Given the description of an element on the screen output the (x, y) to click on. 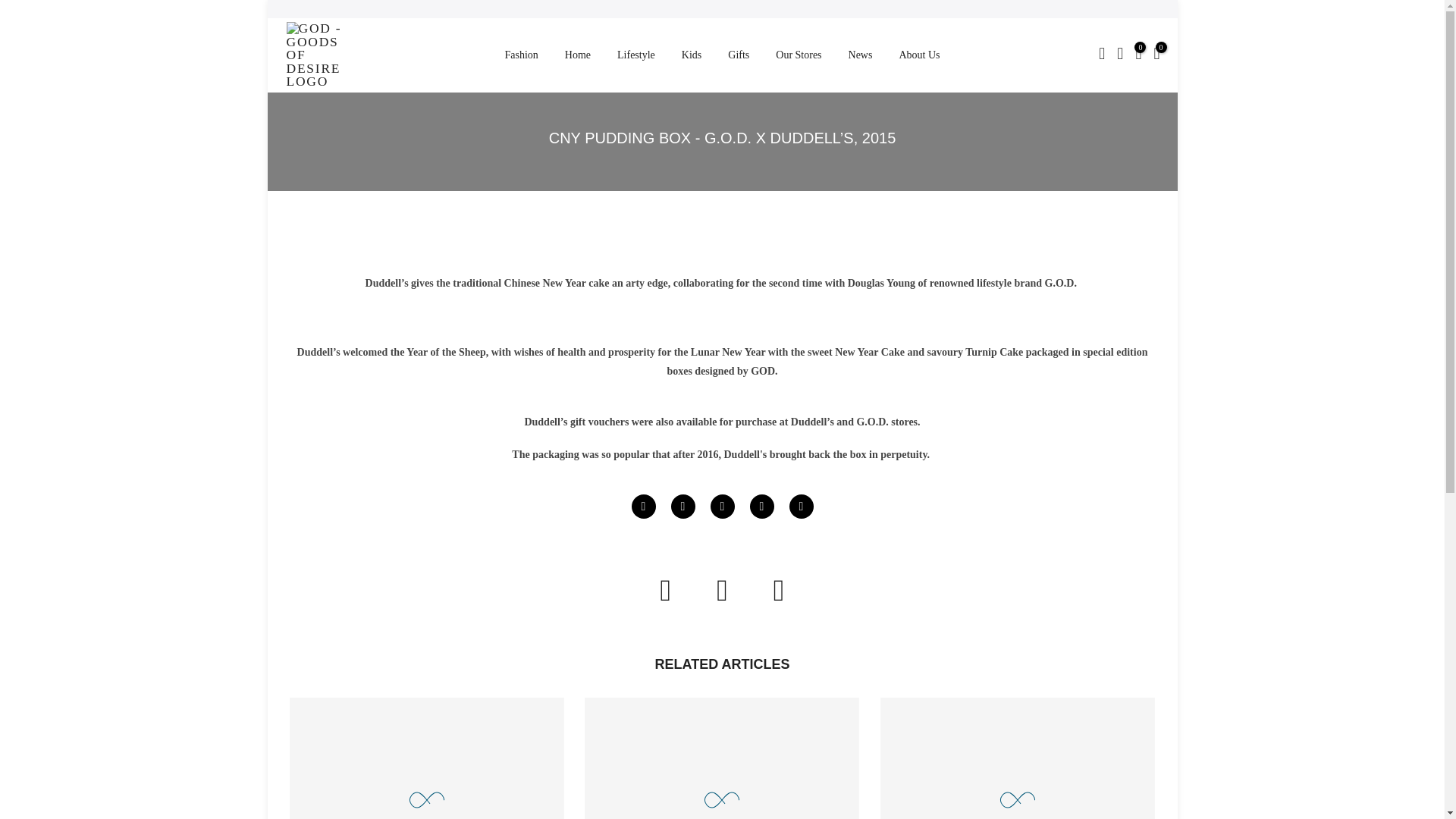
Fashion (521, 54)
Home (577, 54)
